Given the description of an element on the screen output the (x, y) to click on. 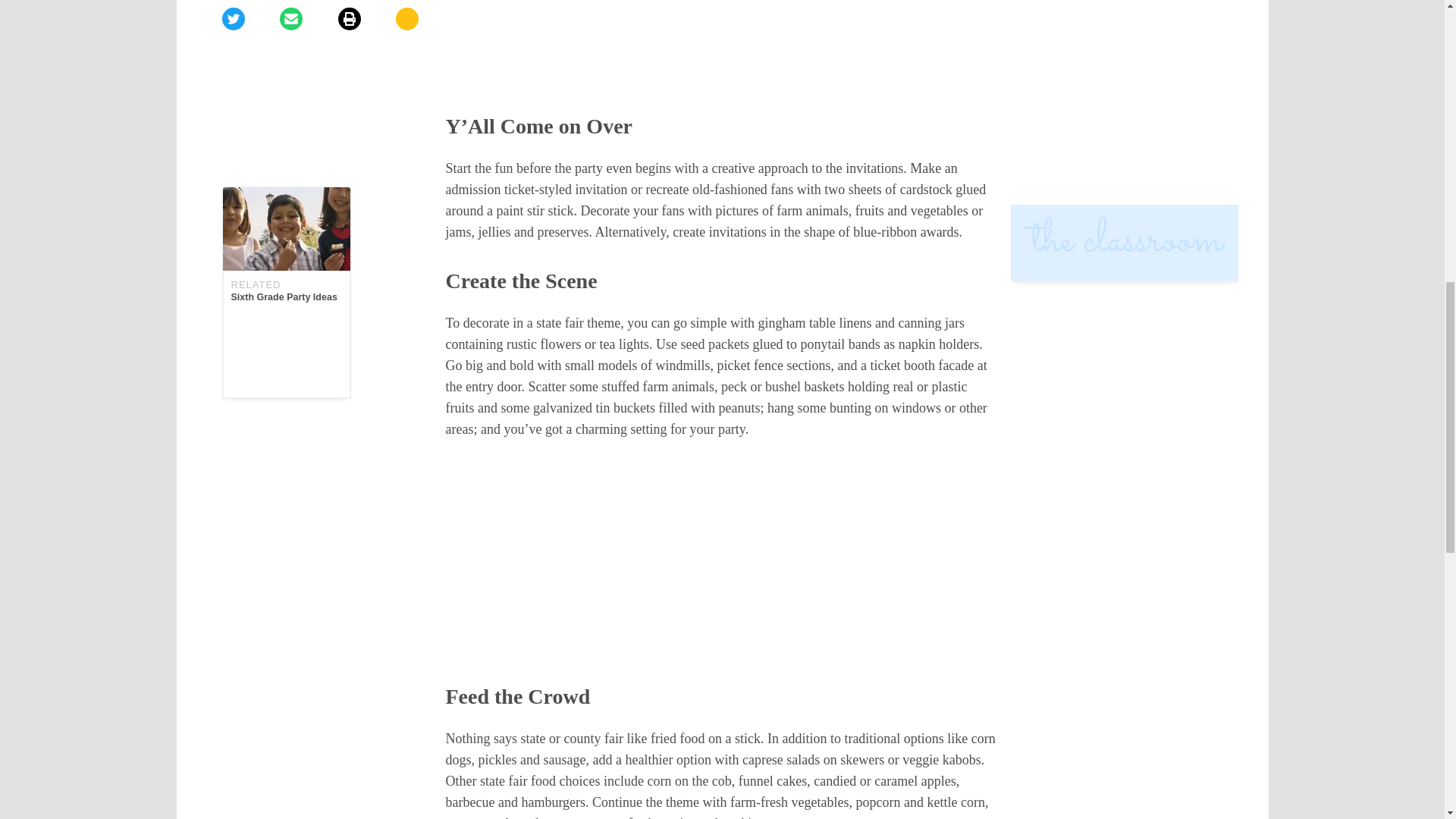
3rd party ad content (721, 563)
Advertisement (285, 41)
3rd party ad content (721, 43)
